Given the description of an element on the screen output the (x, y) to click on. 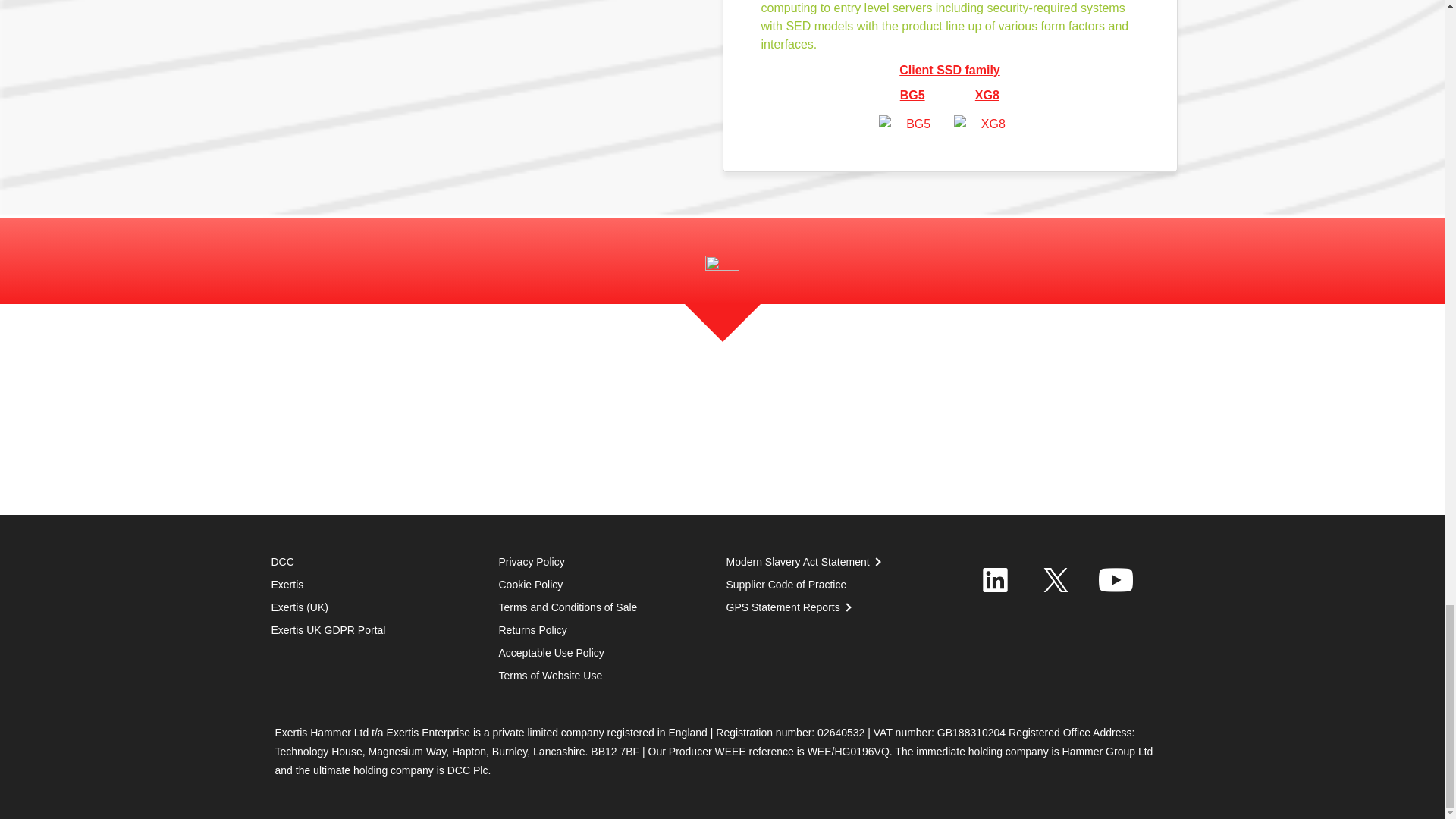
Exertis (287, 584)
Exertis Privacy Policy (531, 562)
DCC (282, 562)
Connect to Exertis (1115, 579)
Exertis UK GDPR Portal (327, 630)
Terms of Website Use (550, 675)
Connect to Exertis (995, 579)
Acceptable Use Policy (551, 653)
Terms and Conditions of Sale (533, 630)
Exertis Cookie Policy (531, 584)
